Given the description of an element on the screen output the (x, y) to click on. 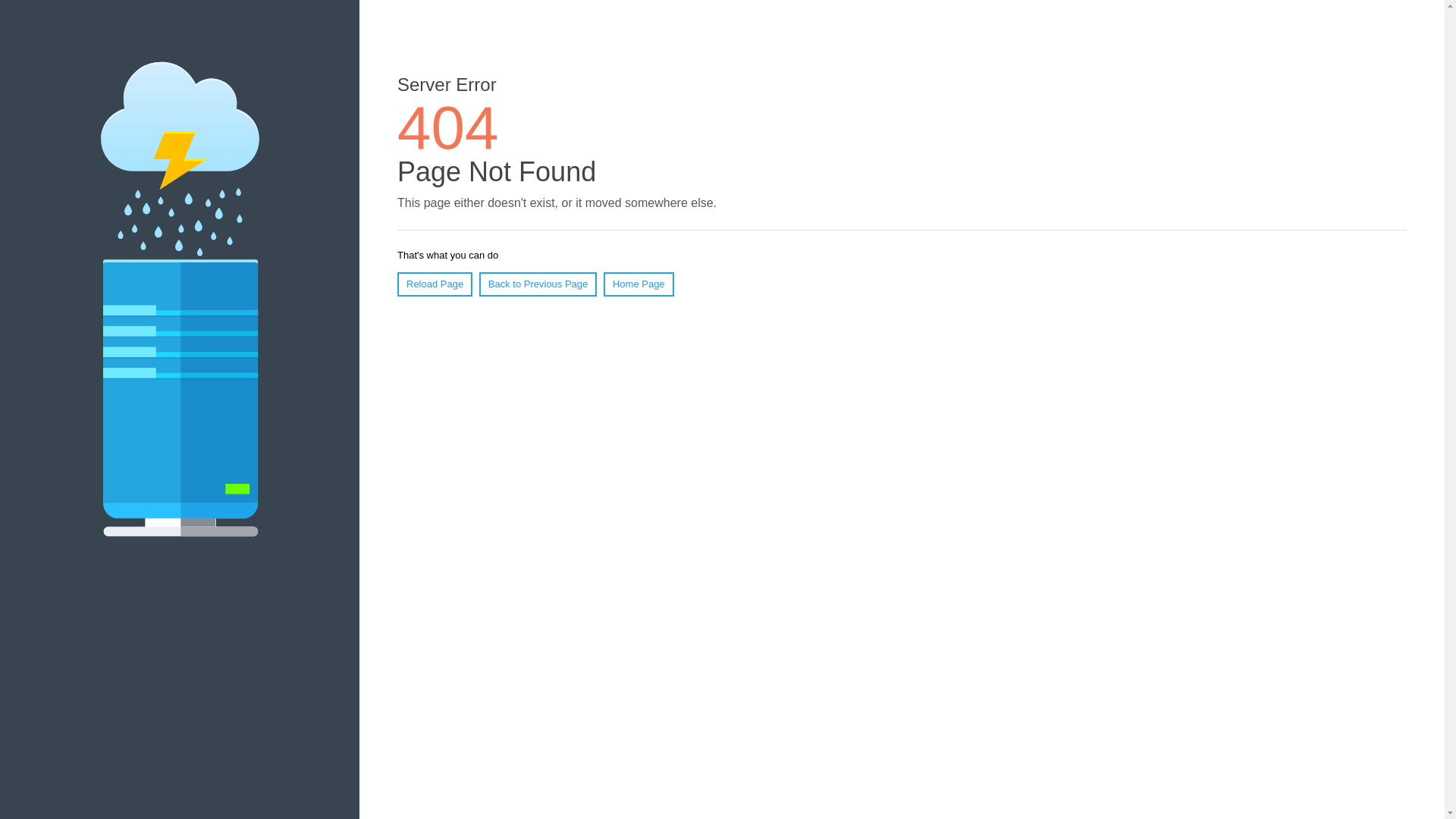
Reload Page (434, 283)
Home Page (639, 283)
Back to Previous Page (537, 283)
